Given the description of an element on the screen output the (x, y) to click on. 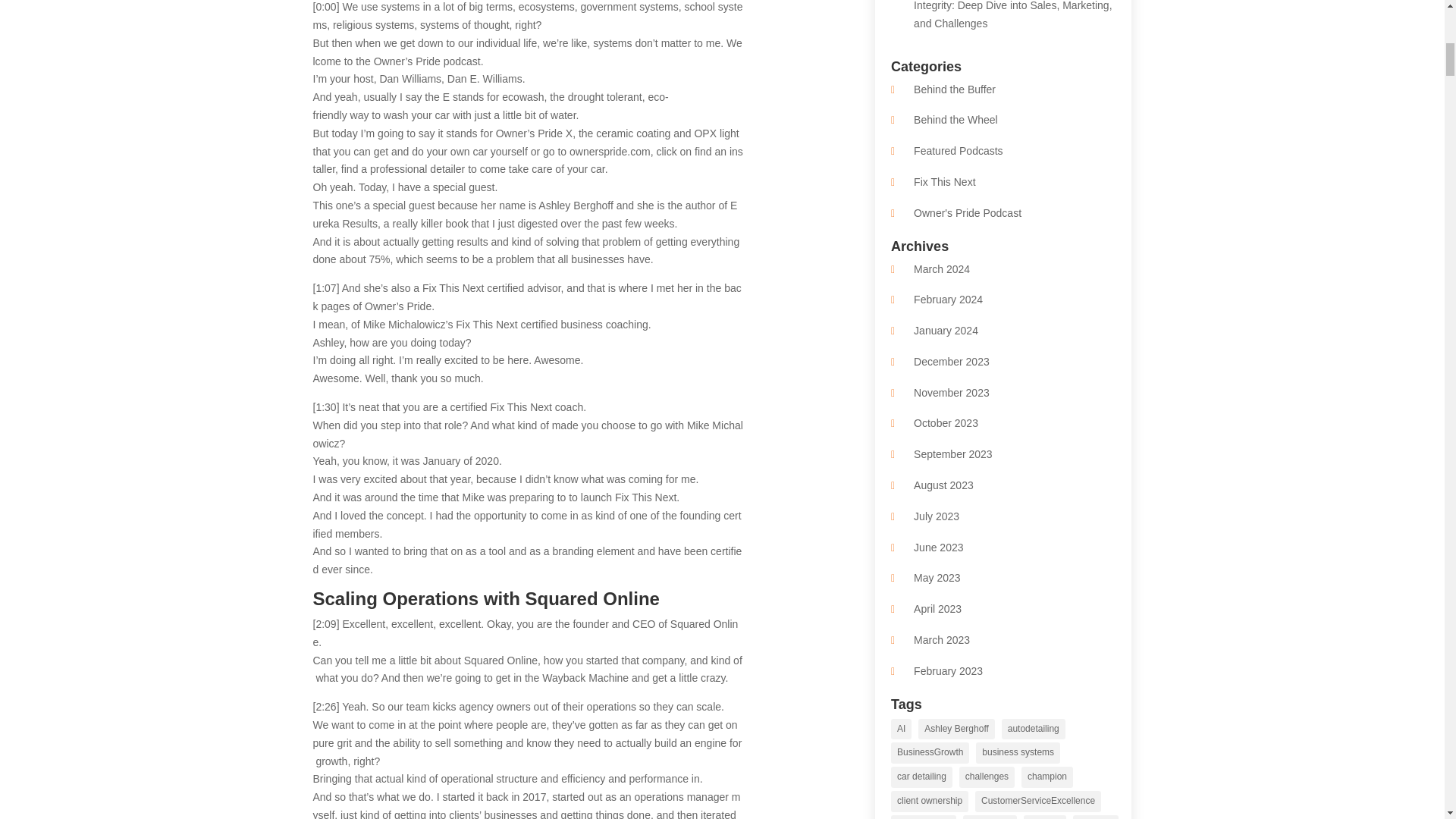
Behind the Buffer (954, 89)
Behind the Wheel (955, 119)
Featured Podcasts (958, 150)
Owner's Pride Podcast (968, 213)
March 2024 (941, 268)
Fix This Next (944, 182)
